Given the description of an element on the screen output the (x, y) to click on. 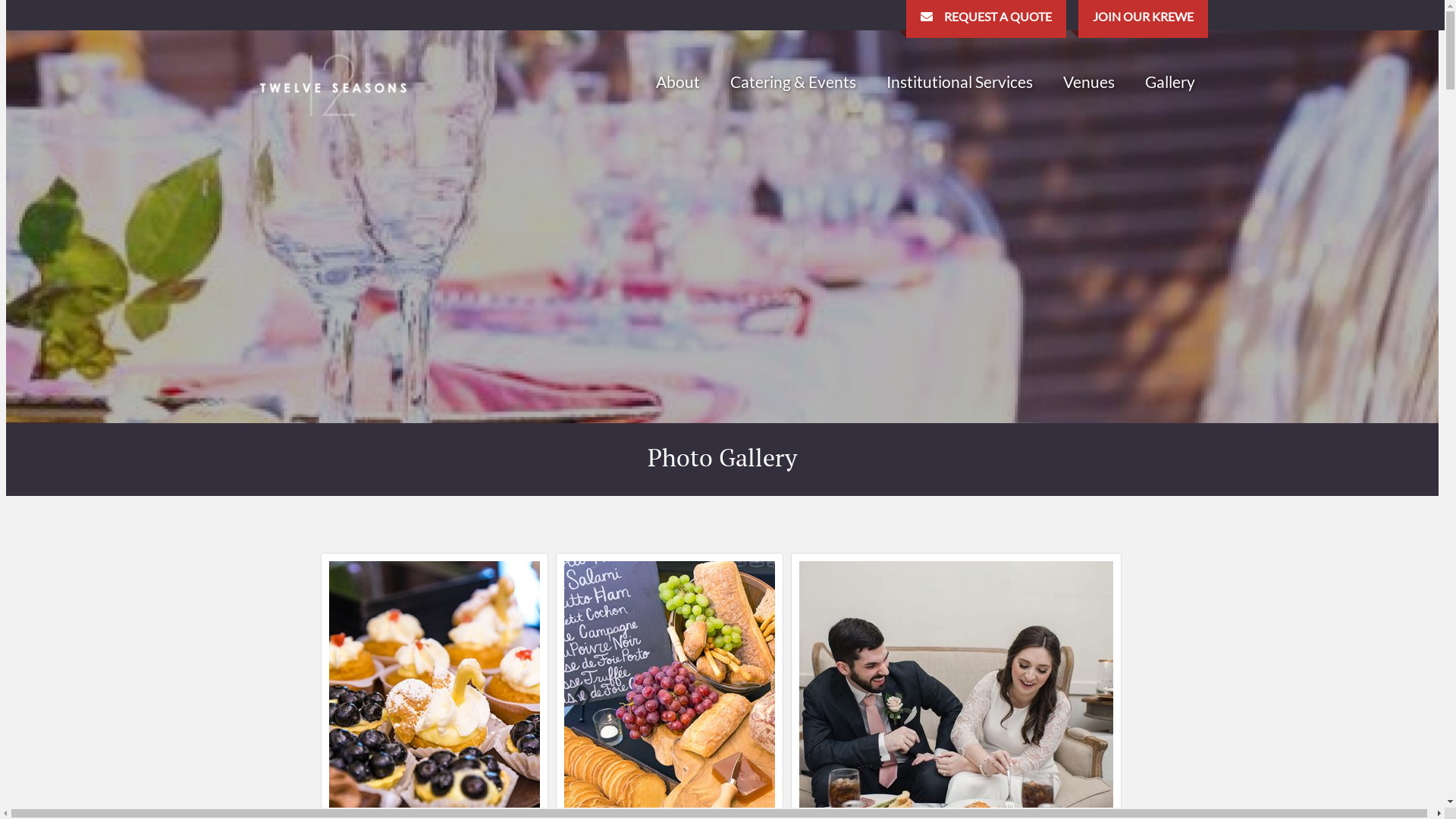
Venues Element type: text (1088, 81)
Corporate Events Element type: text (815, 141)
About Element type: text (676, 81)
Institutional Services Element type: text (958, 81)
Disaster Relief Element type: text (931, 111)
Join Our Krewe Element type: text (700, 141)
Gallery Element type: text (1169, 81)
Bridal Element type: text (815, 111)
Staff Element type: text (700, 111)
Menus Element type: text (815, 202)
Cookouts, Boils & Social Gatherings Element type: text (815, 171)
Contact Element type: text (700, 171)
MMC Food Services Element type: text (931, 141)
Catering & Events Element type: text (792, 81)
